Given the description of an element on the screen output the (x, y) to click on. 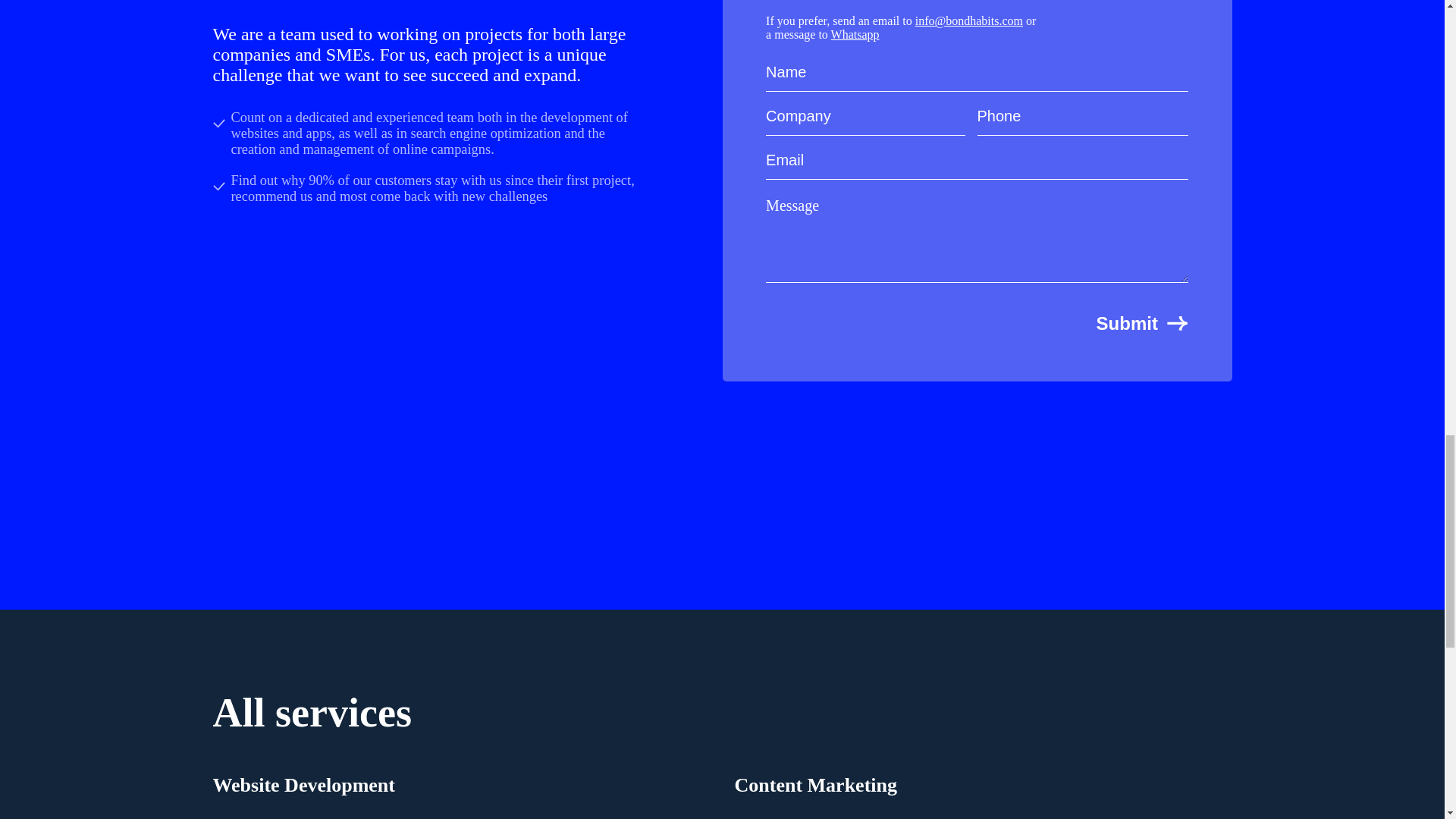
Submit (1142, 311)
Whatsapp (855, 33)
Submit (1142, 311)
